Given the description of an element on the screen output the (x, y) to click on. 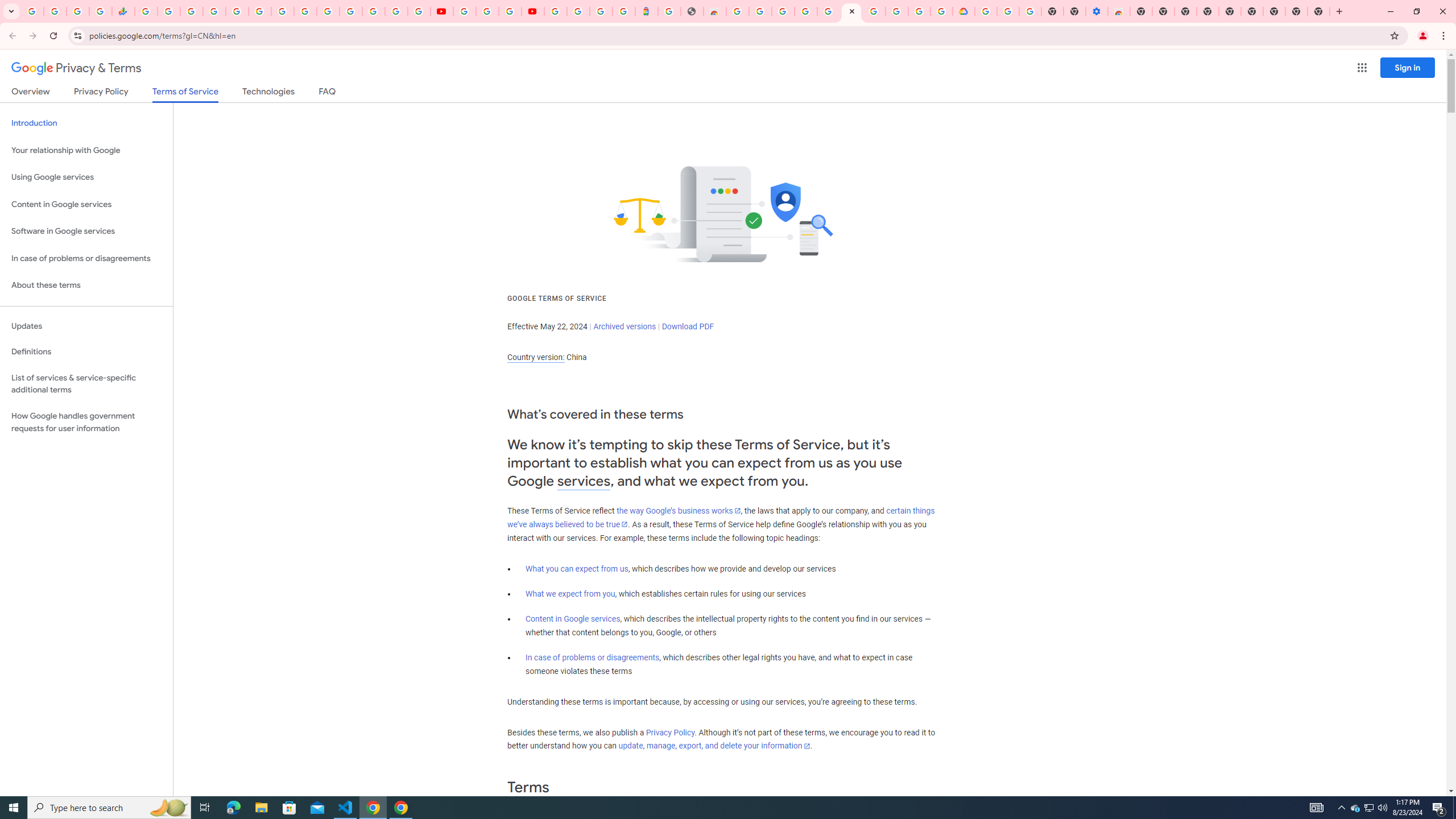
Create your Google Account (919, 11)
Create your Google Account (510, 11)
Ad Settings (805, 11)
Create your Google Account (760, 11)
YouTube (441, 11)
